Given the description of an element on the screen output the (x, y) to click on. 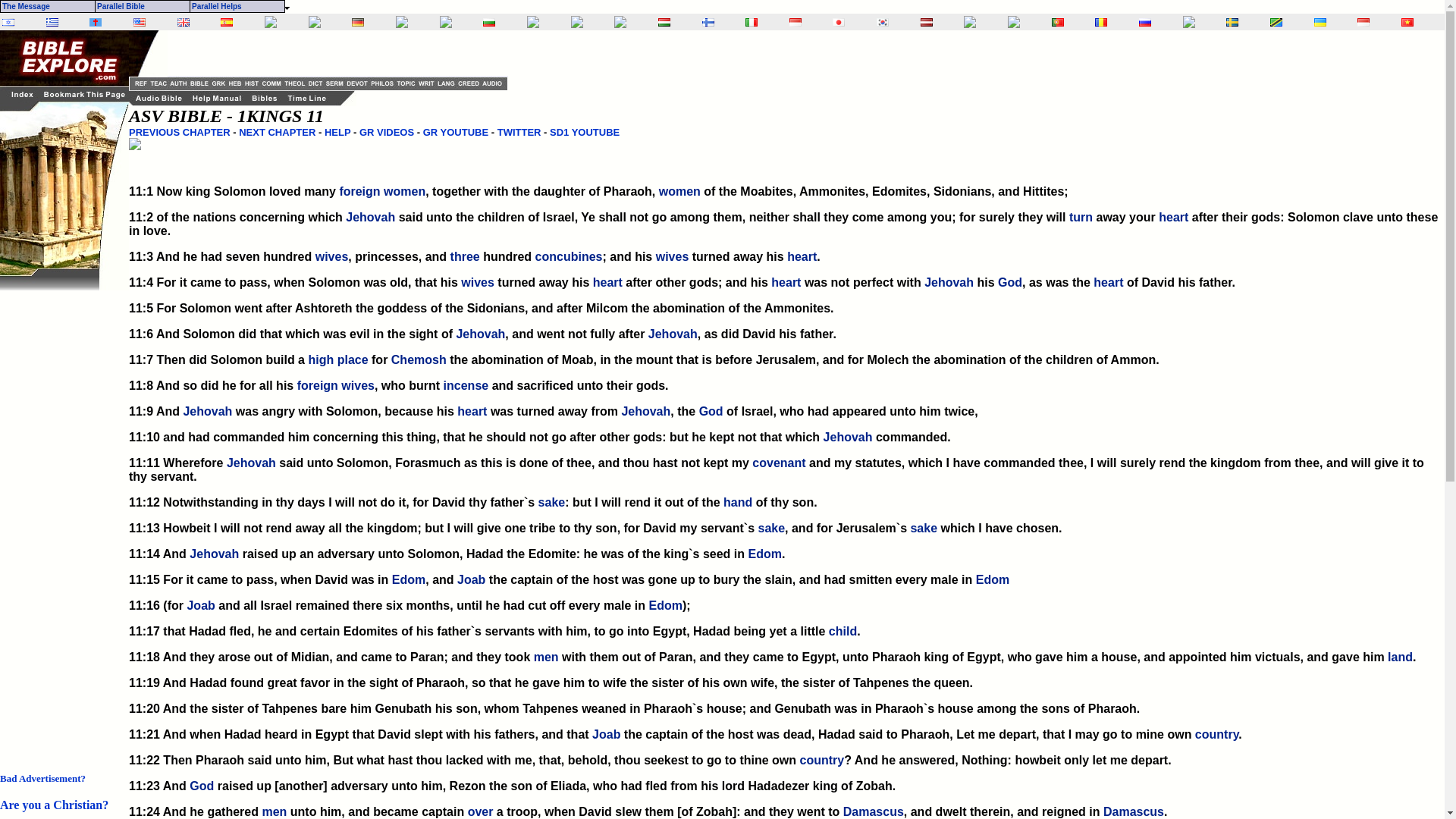
Croatian Bible (532, 23)
Bulgarian Bible (489, 21)
World English Bible (139, 21)
Japanese Section (838, 21)
Danish (576, 23)
Italian: Riveduta (751, 21)
King James Bible (183, 21)
French: Louis Segond (314, 23)
Baru Bibliya (795, 21)
Finnish: Pyha Raamattu (707, 21)
